Given the description of an element on the screen output the (x, y) to click on. 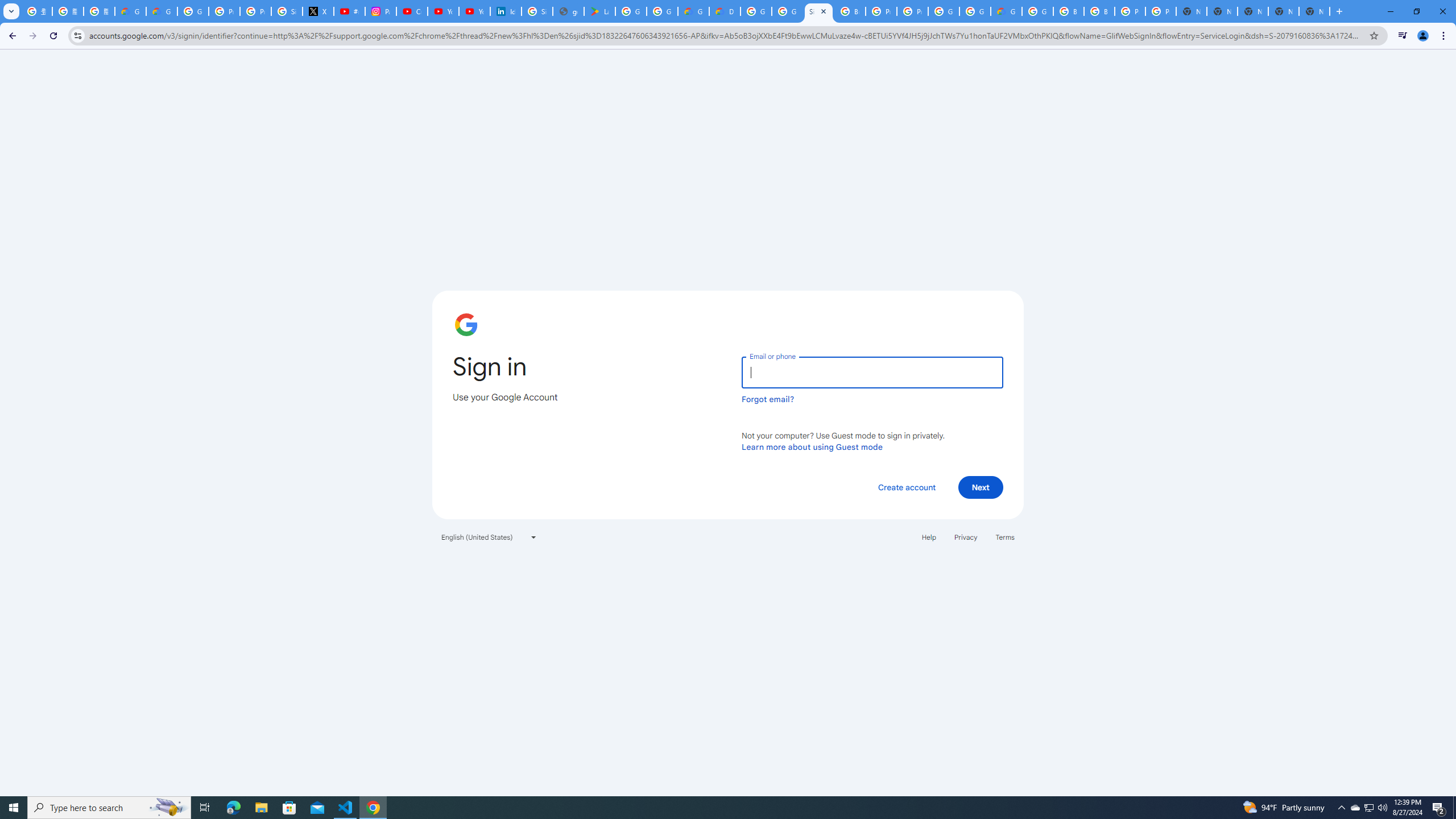
English (United States) (489, 536)
#nbabasketballhighlights - YouTube (349, 11)
Create account (905, 486)
Google Cloud Privacy Notice (130, 11)
Learn more about using Guest mode (812, 446)
Google Cloud Platform (943, 11)
YouTube Culture & Trends - YouTube Top 10, 2021 (474, 11)
